Given the description of an element on the screen output the (x, y) to click on. 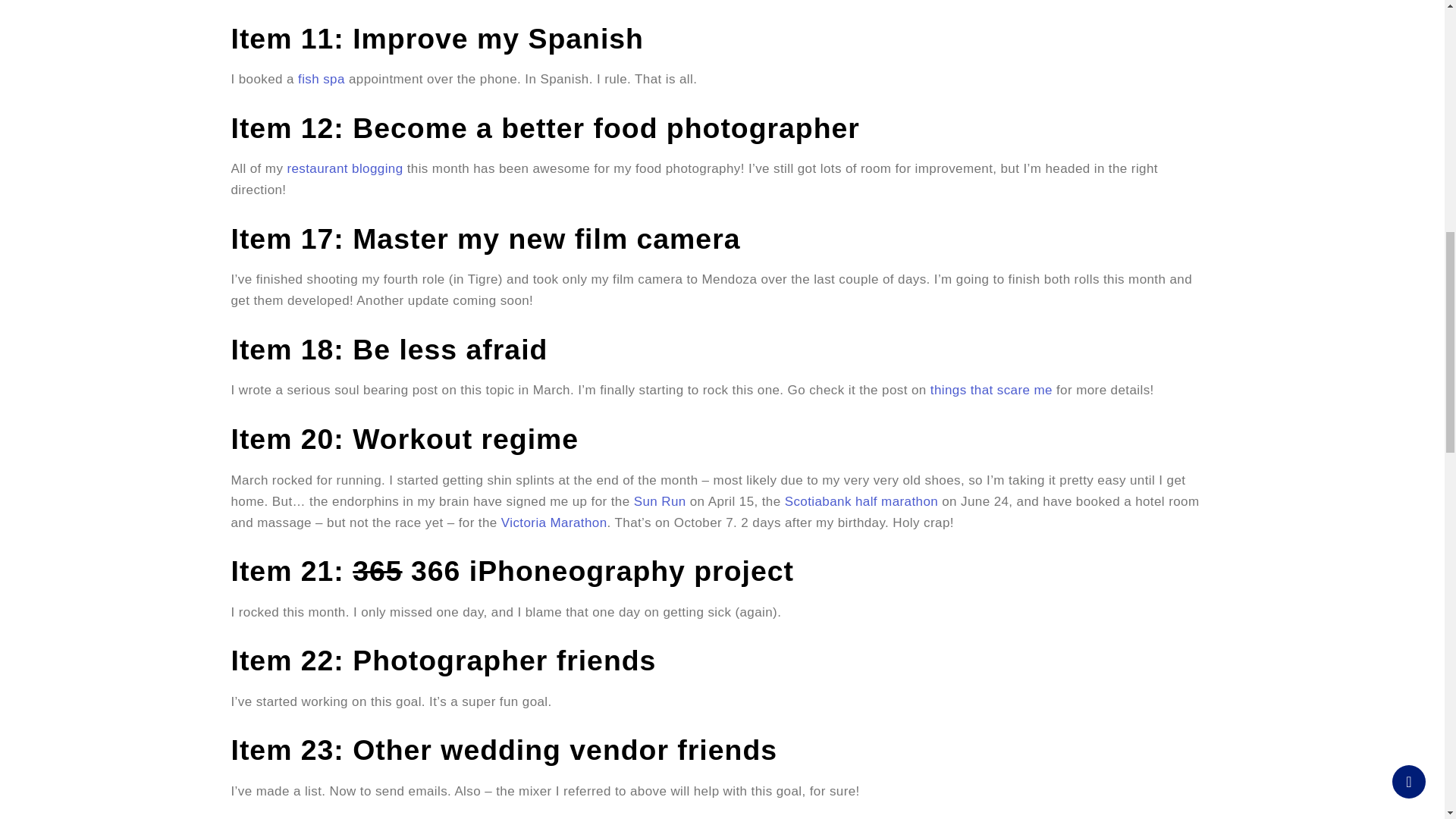
Scotiabank half marathon (860, 501)
things that scare me (991, 390)
restaurant blogging (344, 168)
Victoria Marathon (553, 522)
Sun Run (659, 501)
fish spa (321, 79)
